Given the description of an element on the screen output the (x, y) to click on. 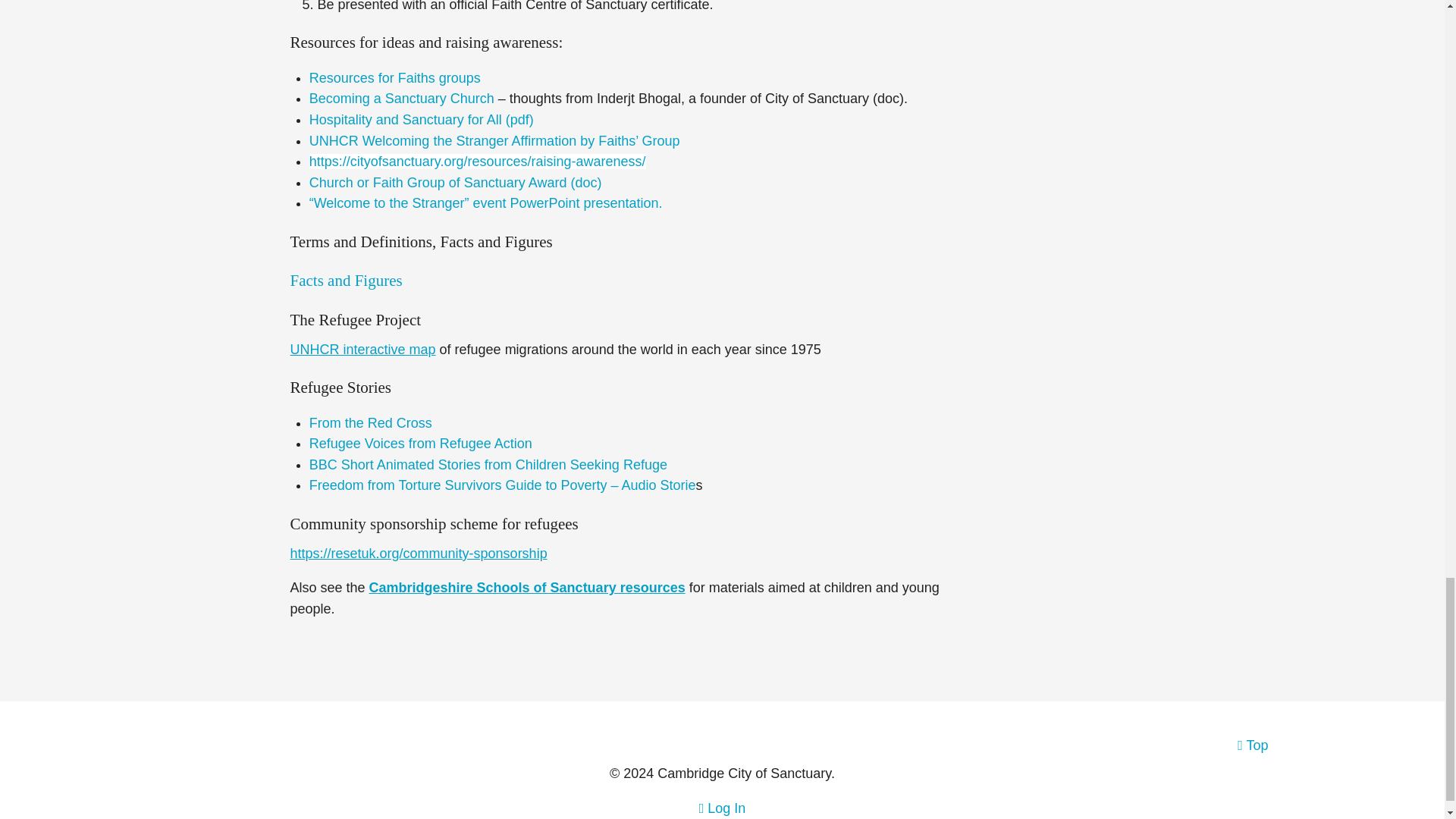
Resources for Faiths groups (394, 77)
Becoming a Sanctuary Church (401, 98)
Facts and Figures (345, 280)
UNHCR interactive map (362, 349)
